Given the description of an element on the screen output the (x, y) to click on. 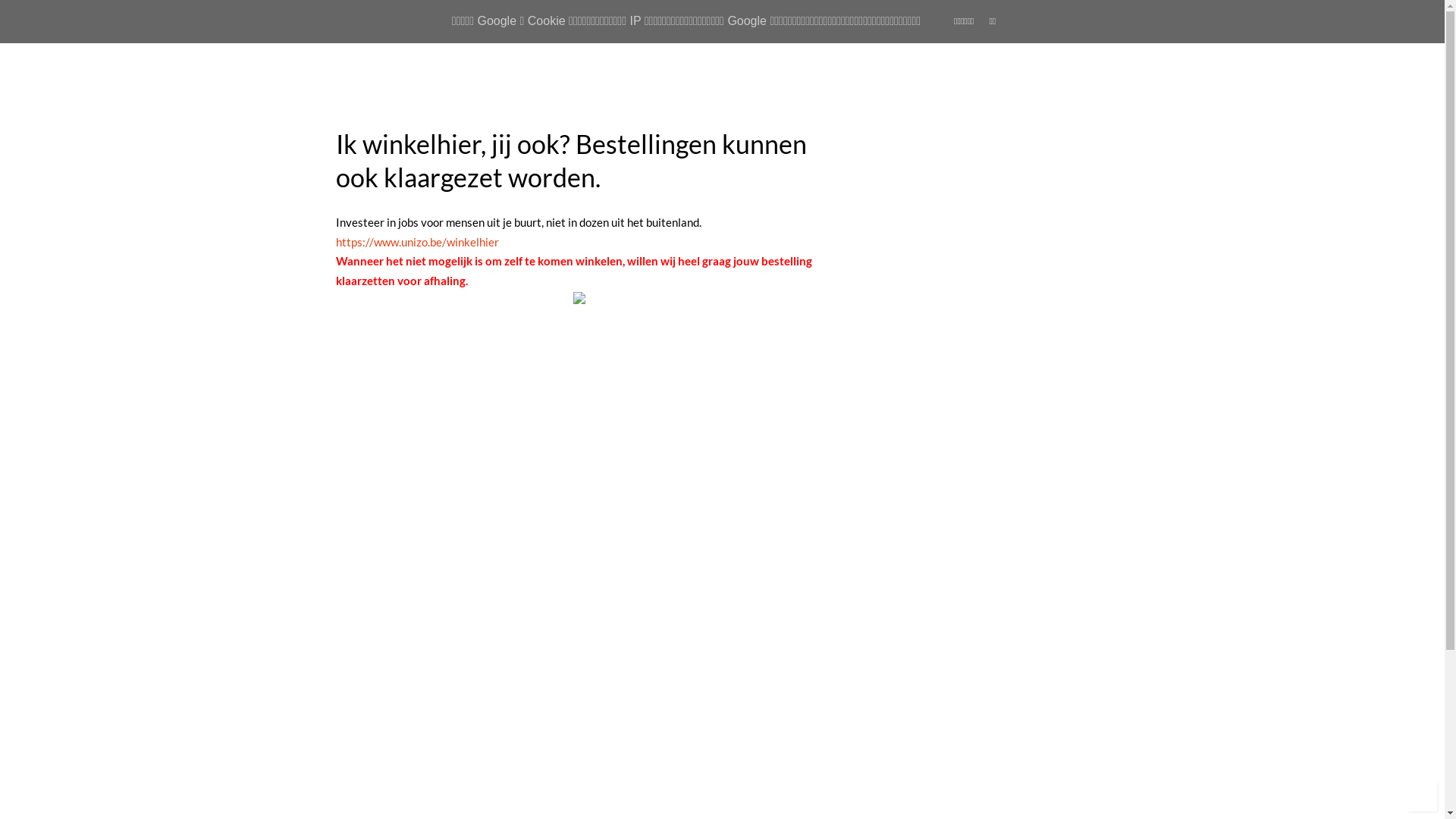
https://www.unizo.be/winkelhier Element type: text (416, 241)
Inschrijven Element type: text (899, 381)
